Given the description of an element on the screen output the (x, y) to click on. 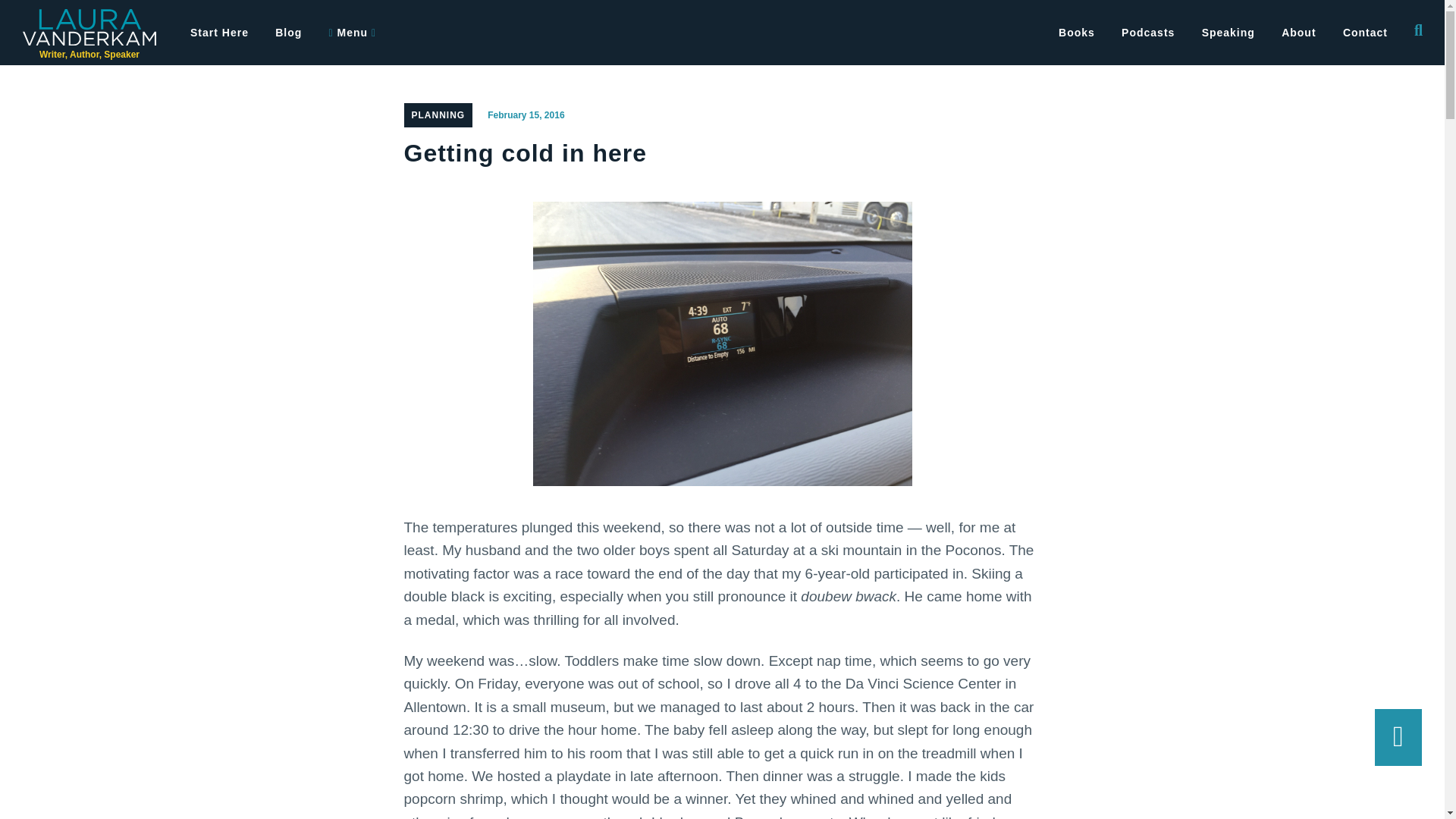
February 15, 2016 (525, 115)
Speaking (1228, 32)
Podcasts (1147, 32)
Menu (352, 33)
PLANNING (437, 115)
Search (55, 22)
Start Here (219, 32)
Permalink to Getting cold in here (525, 115)
Contact (1365, 32)
Books (1076, 32)
